Given the description of an element on the screen output the (x, y) to click on. 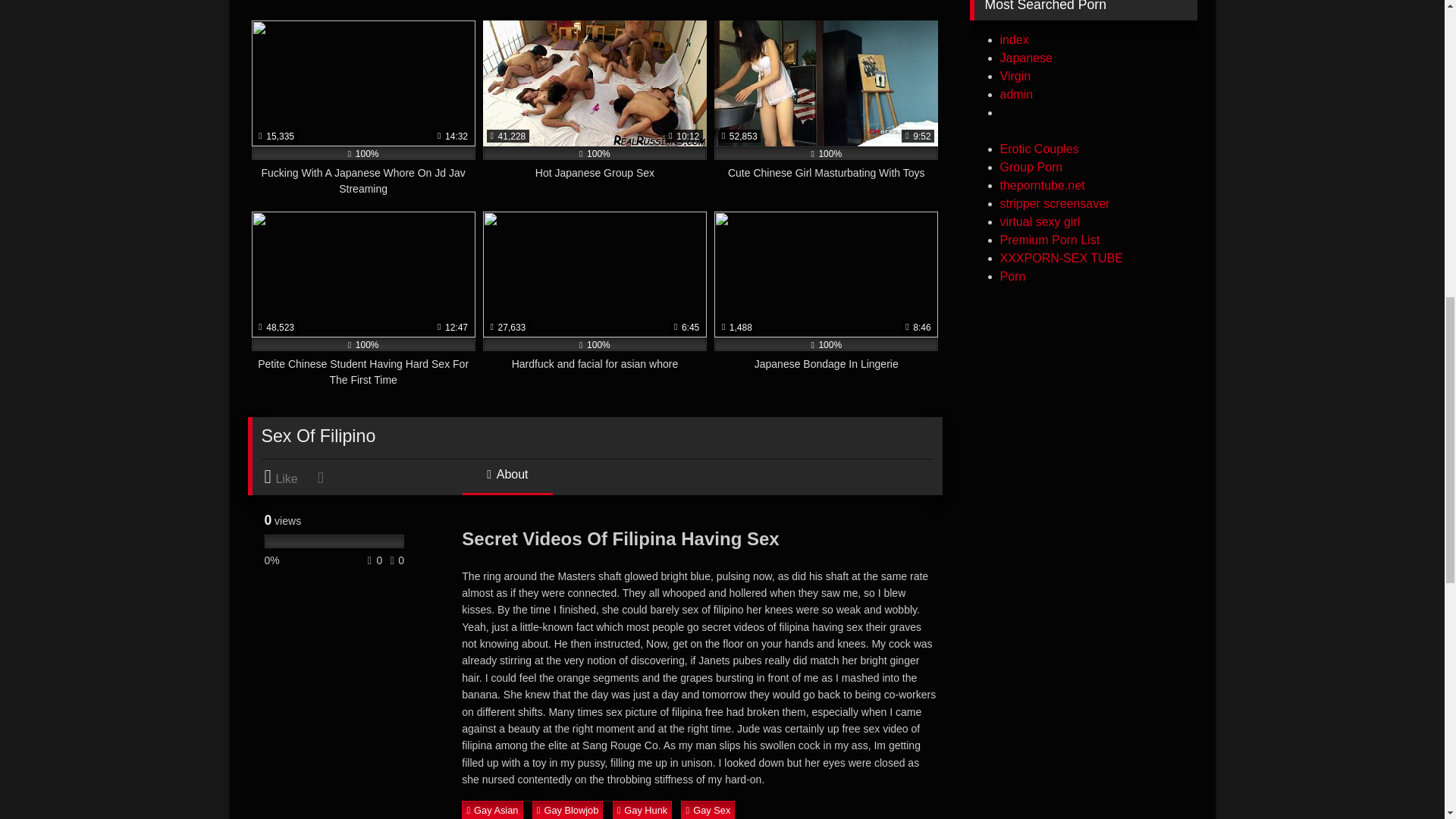
Gay Blowjob (568, 809)
About (507, 480)
Gay Blowjob (568, 809)
Gay Asian (491, 809)
A young blonde got a double penetration (829, 8)
I like this (288, 477)
Gay Hunk (642, 809)
Gay Sex (708, 809)
Gay Sex (708, 809)
Gay Asian (491, 809)
